Given the description of an element on the screen output the (x, y) to click on. 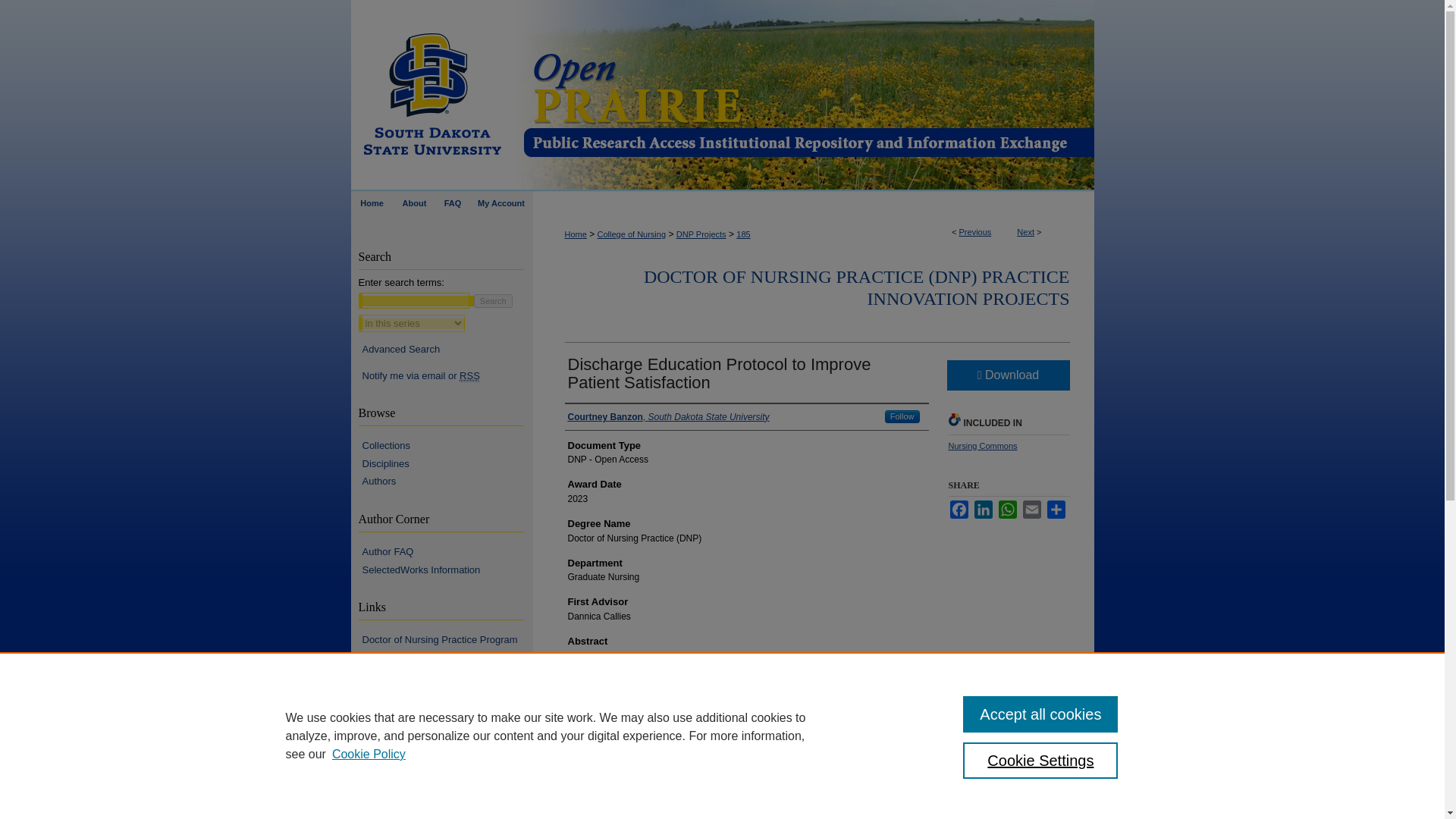
Search (493, 300)
Disciplines (447, 463)
About (414, 202)
DNP Projects (701, 234)
185 (742, 234)
LinkedIn (982, 509)
College of Nursing (631, 234)
Follow (902, 416)
Browse by Collections (447, 445)
Nursing Commons (981, 445)
Search (493, 300)
Home (575, 234)
Home (371, 202)
Collections (447, 445)
Search (493, 300)
